Given the description of an element on the screen output the (x, y) to click on. 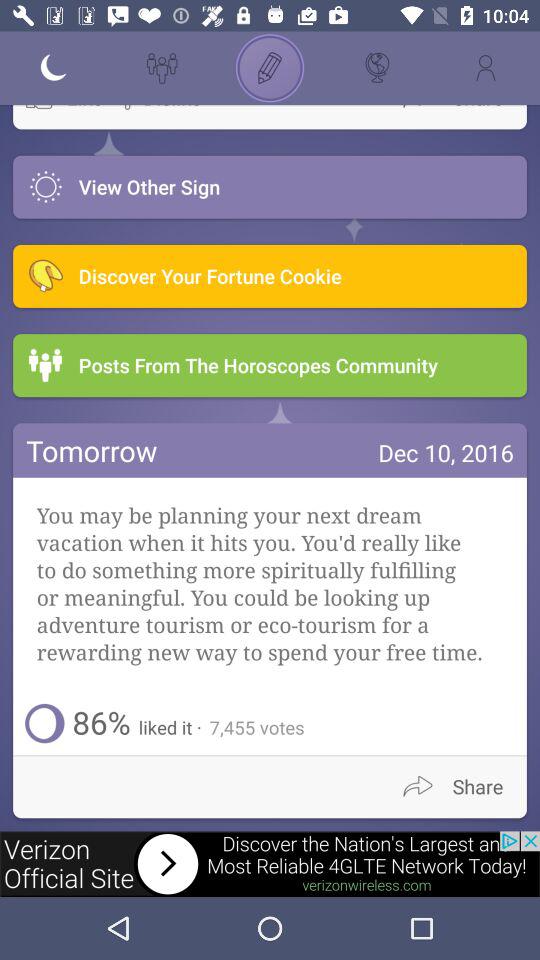
click on the profile icon (485, 67)
select the people icon in the menu bar (161, 67)
select the text share along with the icon present left to it (460, 785)
